Given the description of an element on the screen output the (x, y) to click on. 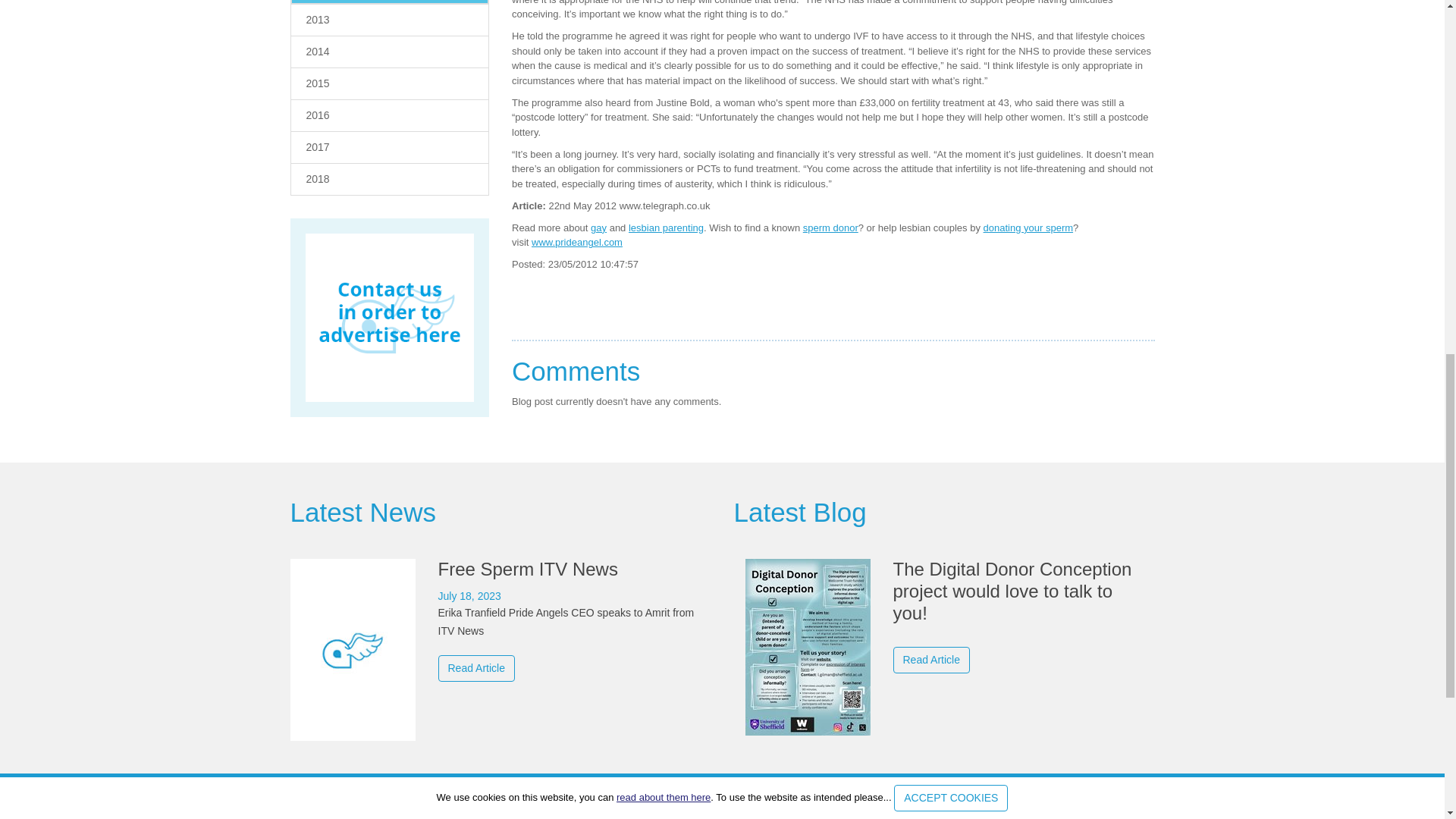
Free Sperm ITV News (499, 619)
Advertise with Pride Angel (389, 317)
View all (799, 512)
View all (362, 512)
